Given the description of an element on the screen output the (x, y) to click on. 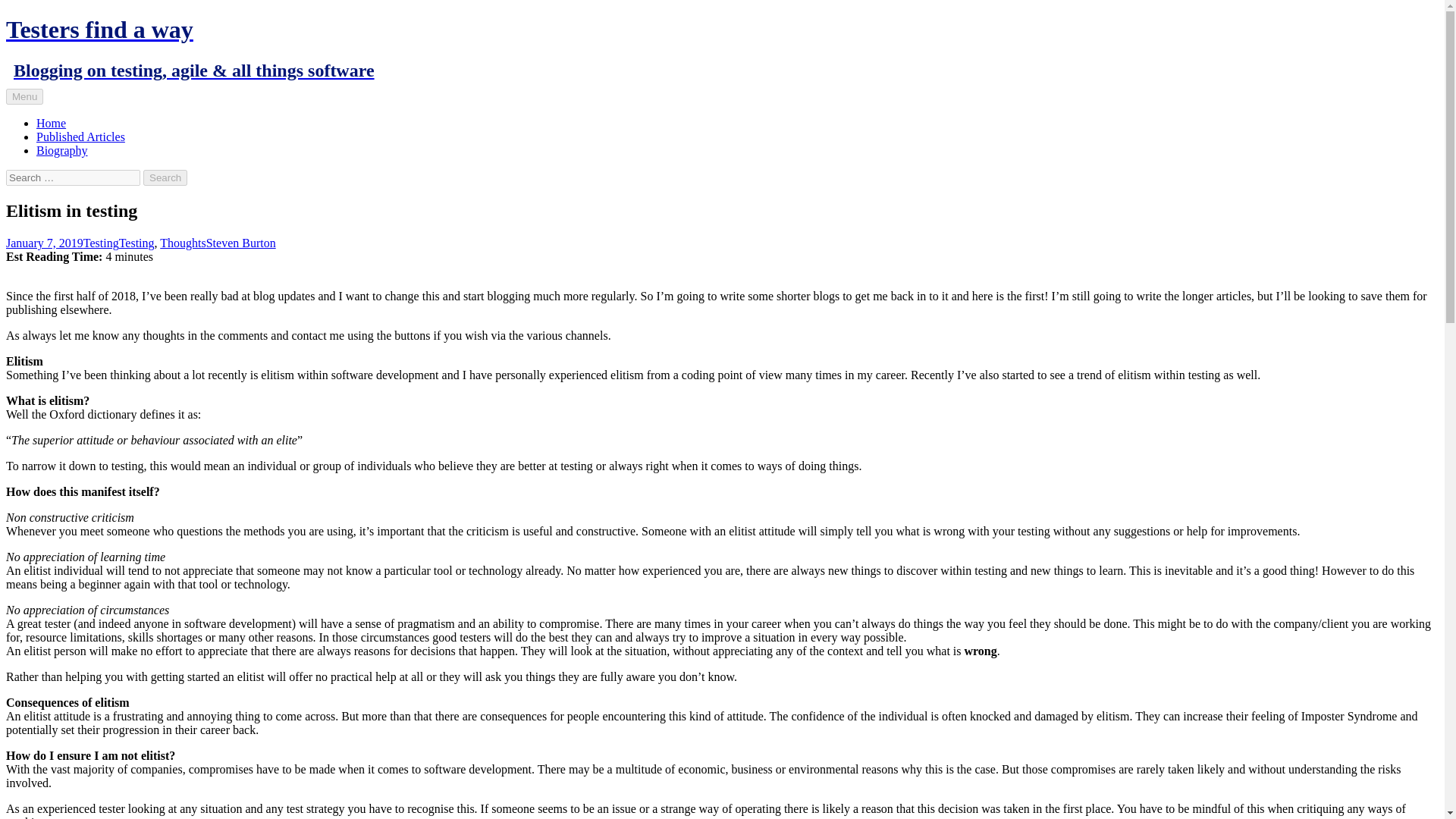
Biography (61, 150)
Steven Burton (241, 242)
Home (50, 123)
Testing (100, 242)
Menu (24, 96)
January 7, 2019 (43, 242)
Thoughts (182, 242)
Published Articles (80, 136)
View all posts by Steven Burton (241, 242)
